Given the description of an element on the screen output the (x, y) to click on. 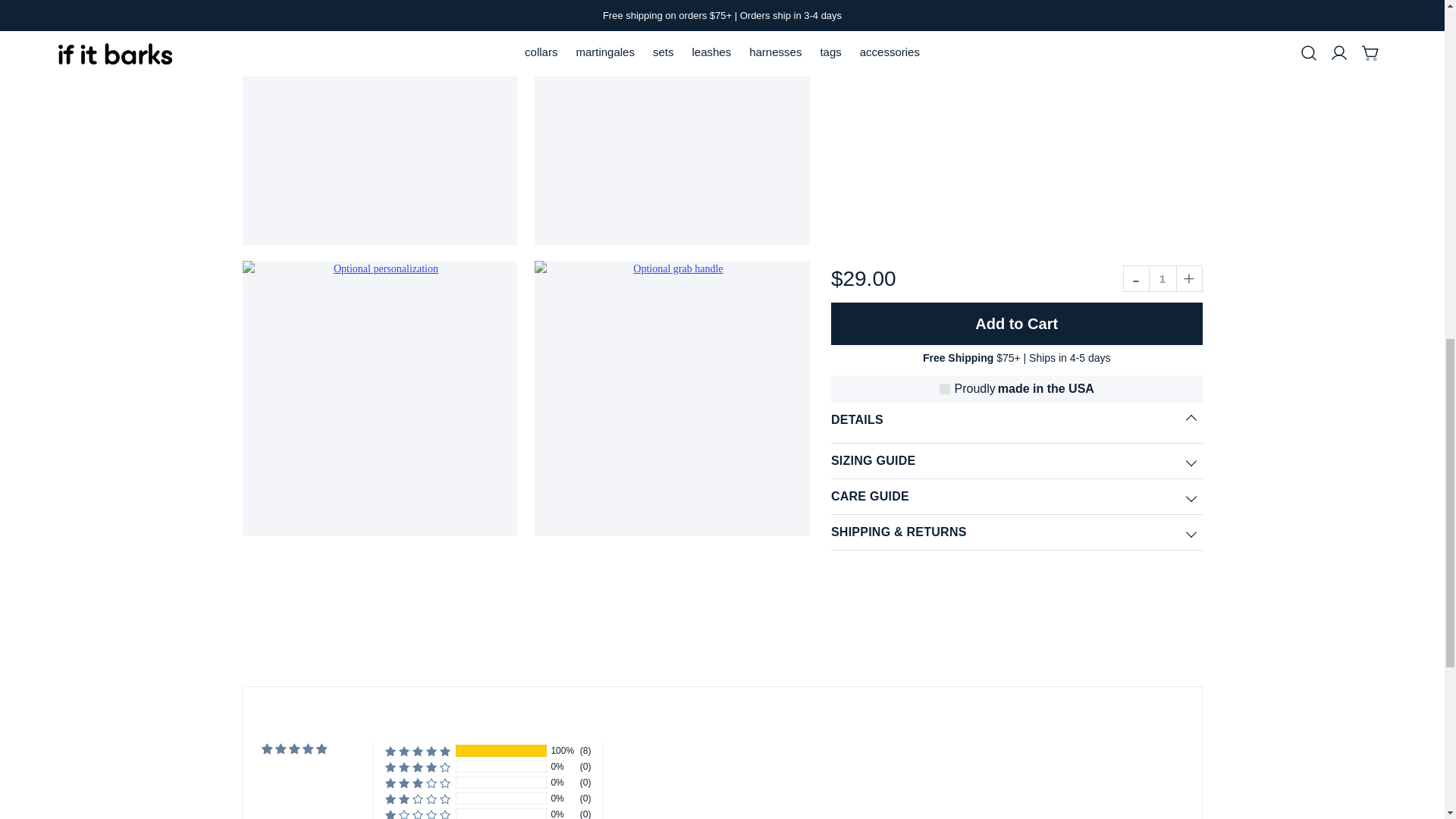
Add to Cart (1016, 323)
1 (1163, 278)
